Given the description of an element on the screen output the (x, y) to click on. 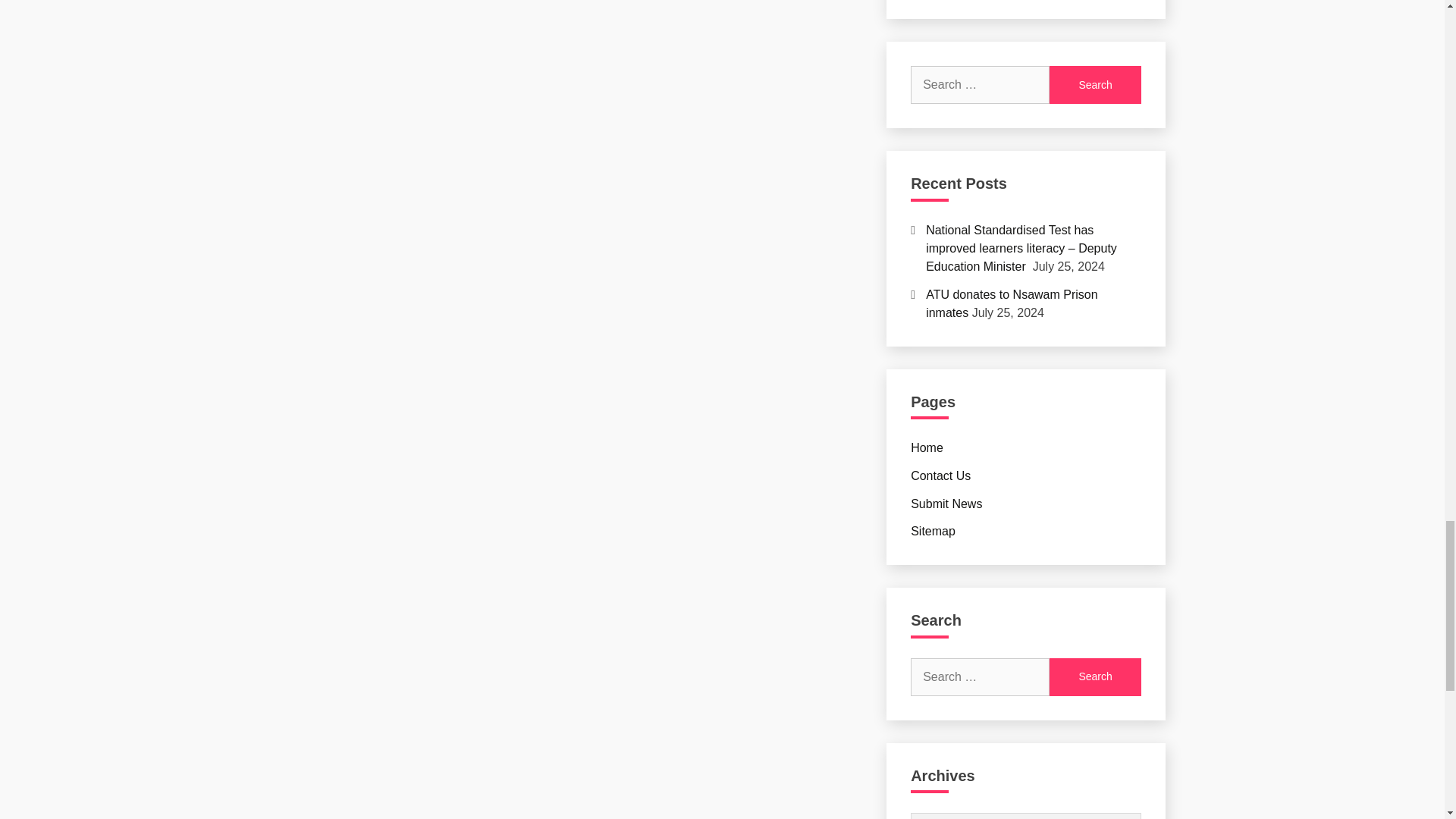
Search (1095, 677)
Search (1095, 85)
Home (927, 447)
Search (1095, 85)
Search (1095, 677)
